Given the description of an element on the screen output the (x, y) to click on. 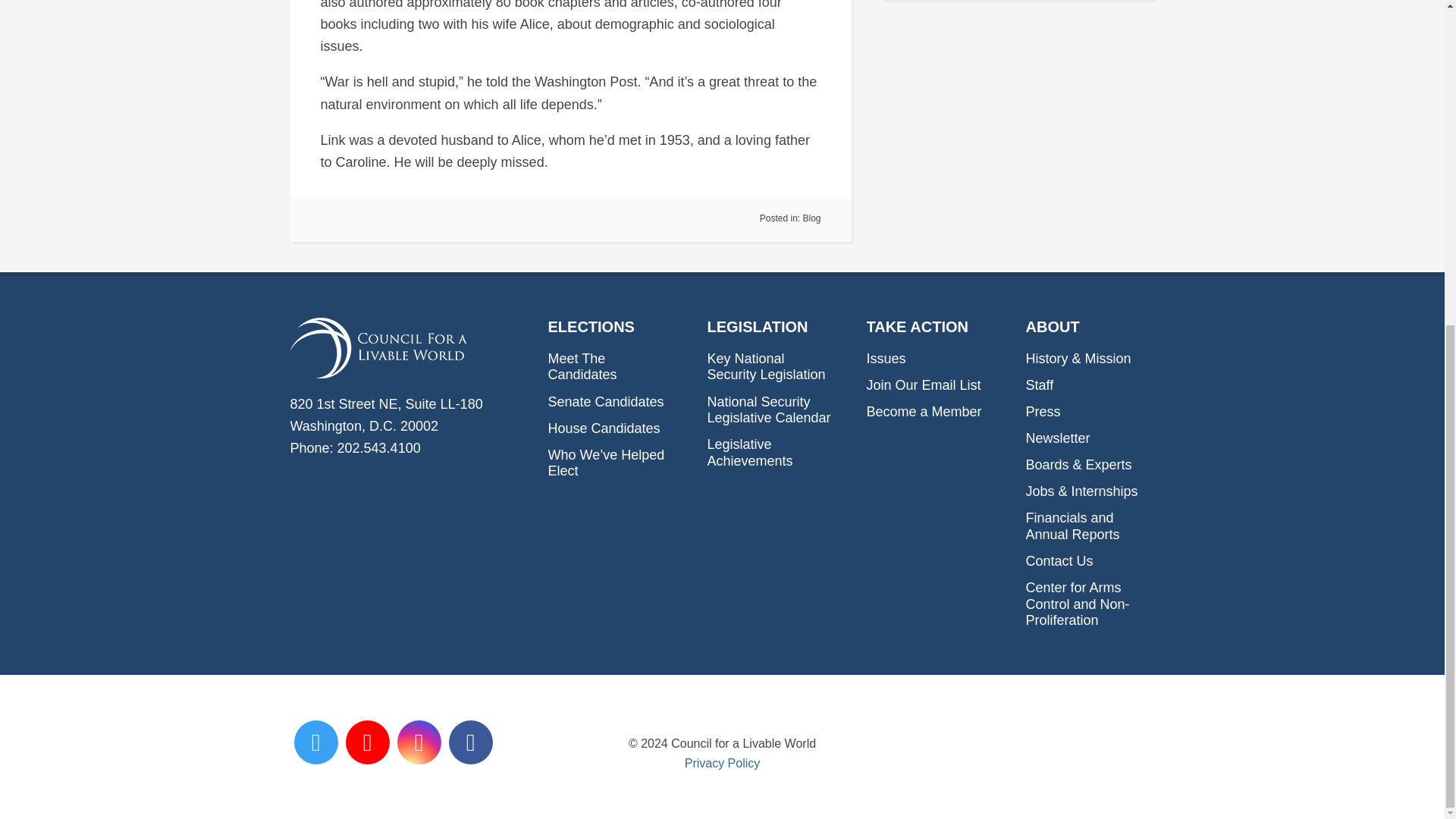
House Candidates (603, 427)
Meet The Candidates (581, 367)
Senate Candidates (605, 401)
Blog (811, 217)
